Given the description of an element on the screen output the (x, y) to click on. 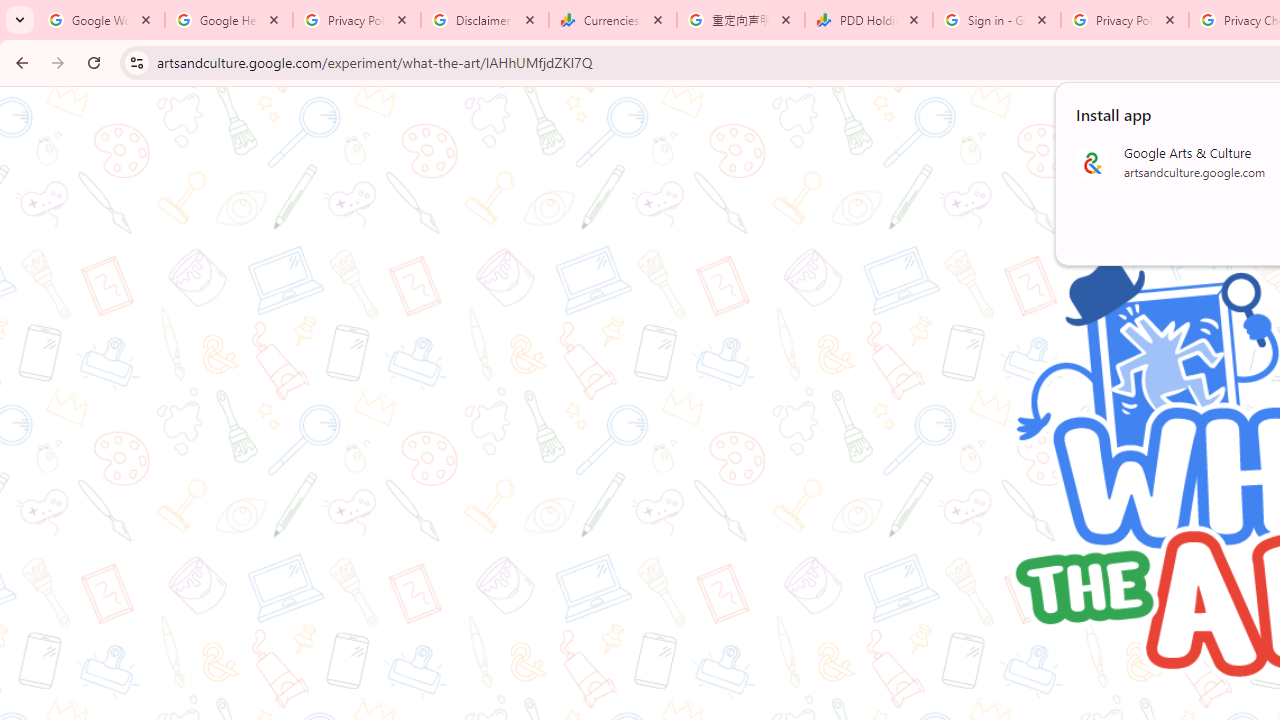
Google Workspace Admin Community (101, 20)
